Given the description of an element on the screen output the (x, y) to click on. 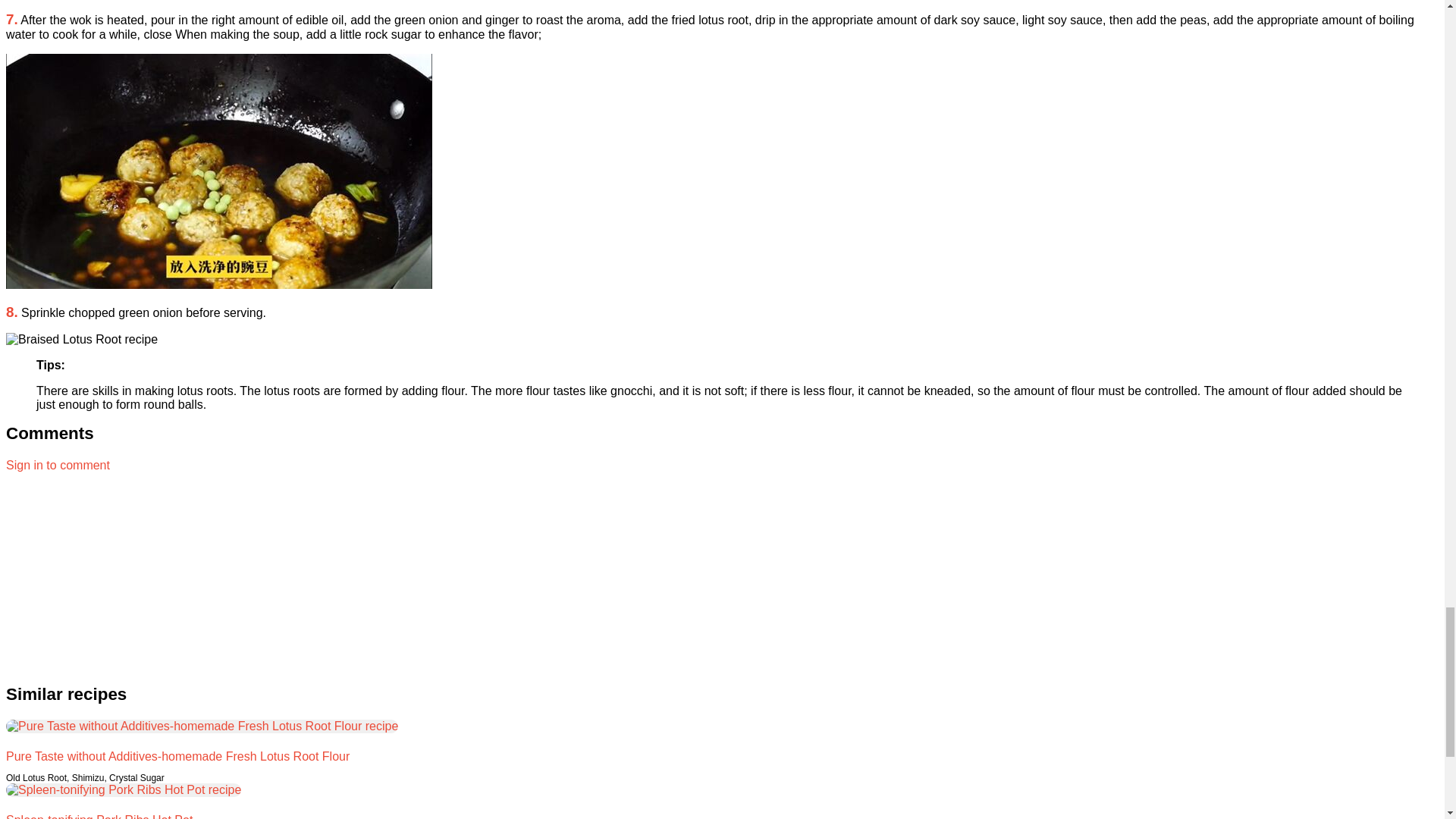
Spleen-tonifying Pork Ribs Hot Pot (98, 816)
Sign in to comment (57, 464)
Braised Lotus Root recipe (81, 339)
Pure Taste without Additives-homemade Fresh Lotus Root Flour (177, 756)
Braised Lotus Root recipe (218, 171)
